Given the description of an element on the screen output the (x, y) to click on. 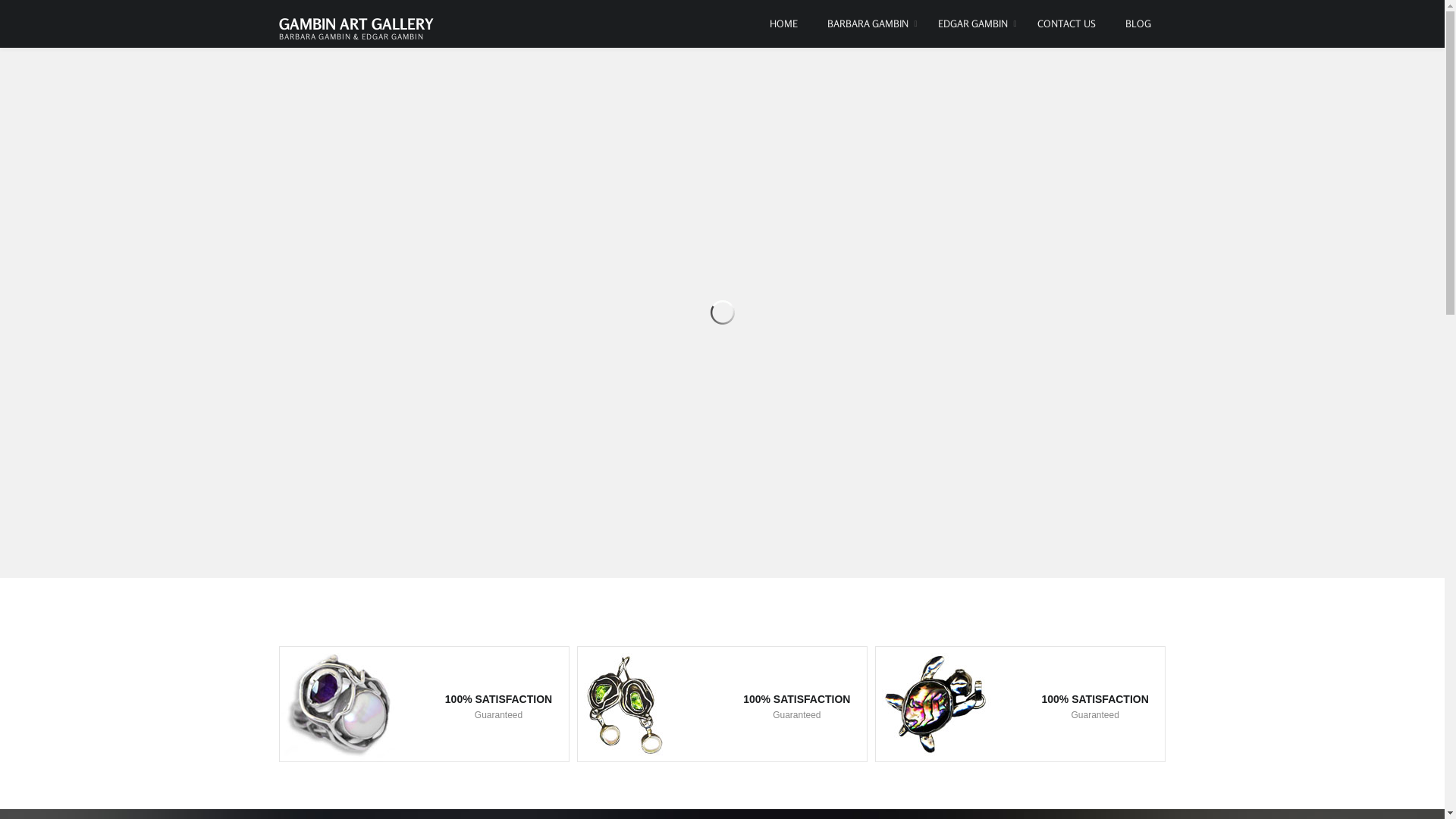
HOME Element type: text (782, 23)
CONTACT US Element type: text (1066, 23)
BARBARA GAMBIN Element type: text (866, 23)
GAMBIN ART GALLERY
BARBARA GAMBIN & EDGAR GAMBIN Element type: text (356, 20)
BLOG Element type: text (1138, 23)
EDGAR GAMBIN Element type: text (972, 23)
